Given the description of an element on the screen output the (x, y) to click on. 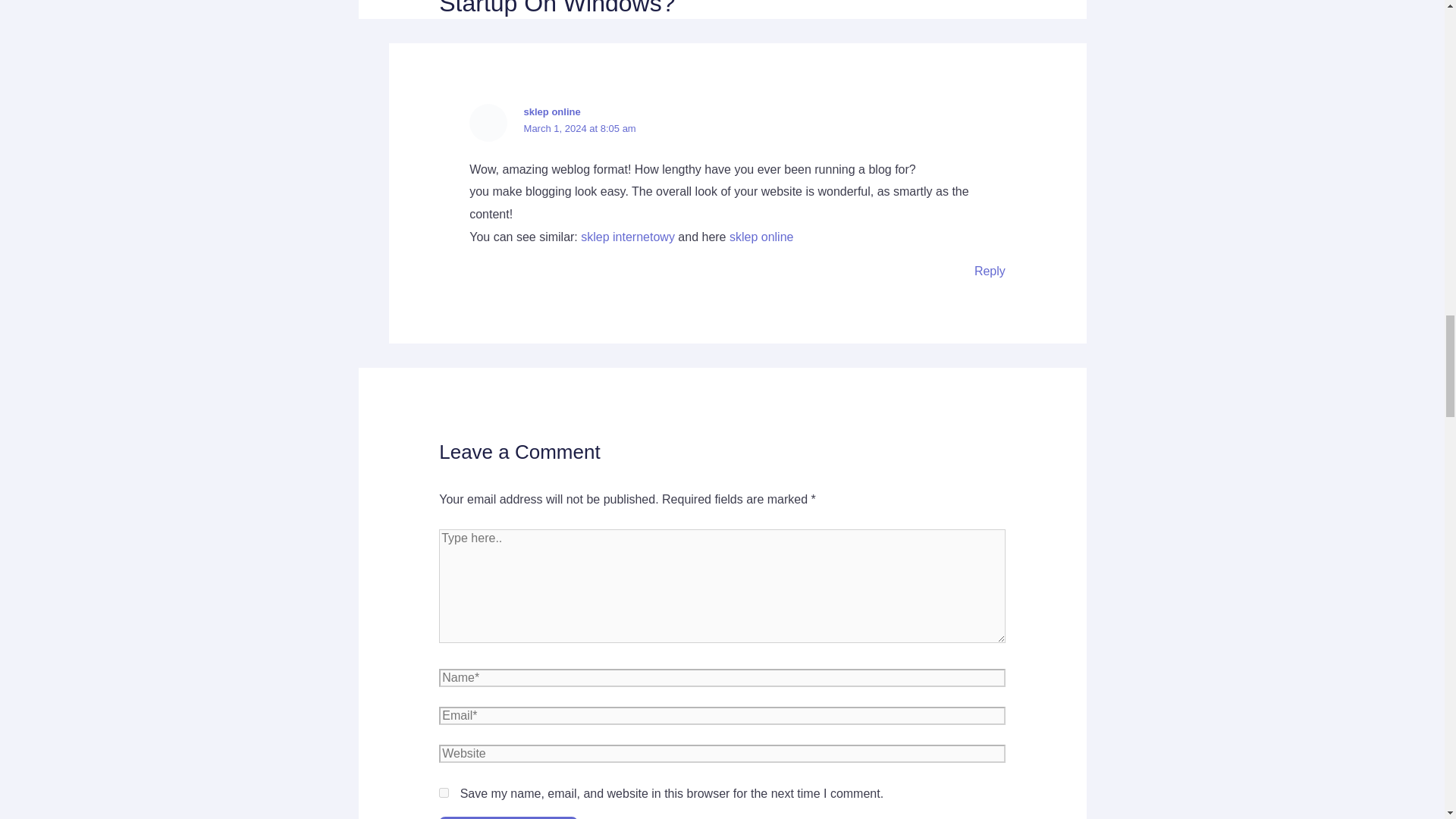
yes (443, 792)
Reply (990, 270)
sklep internetowy (627, 236)
sklep online (552, 111)
sklep online (761, 236)
March 1, 2024 at 8:05 am (580, 128)
